Given the description of an element on the screen output the (x, y) to click on. 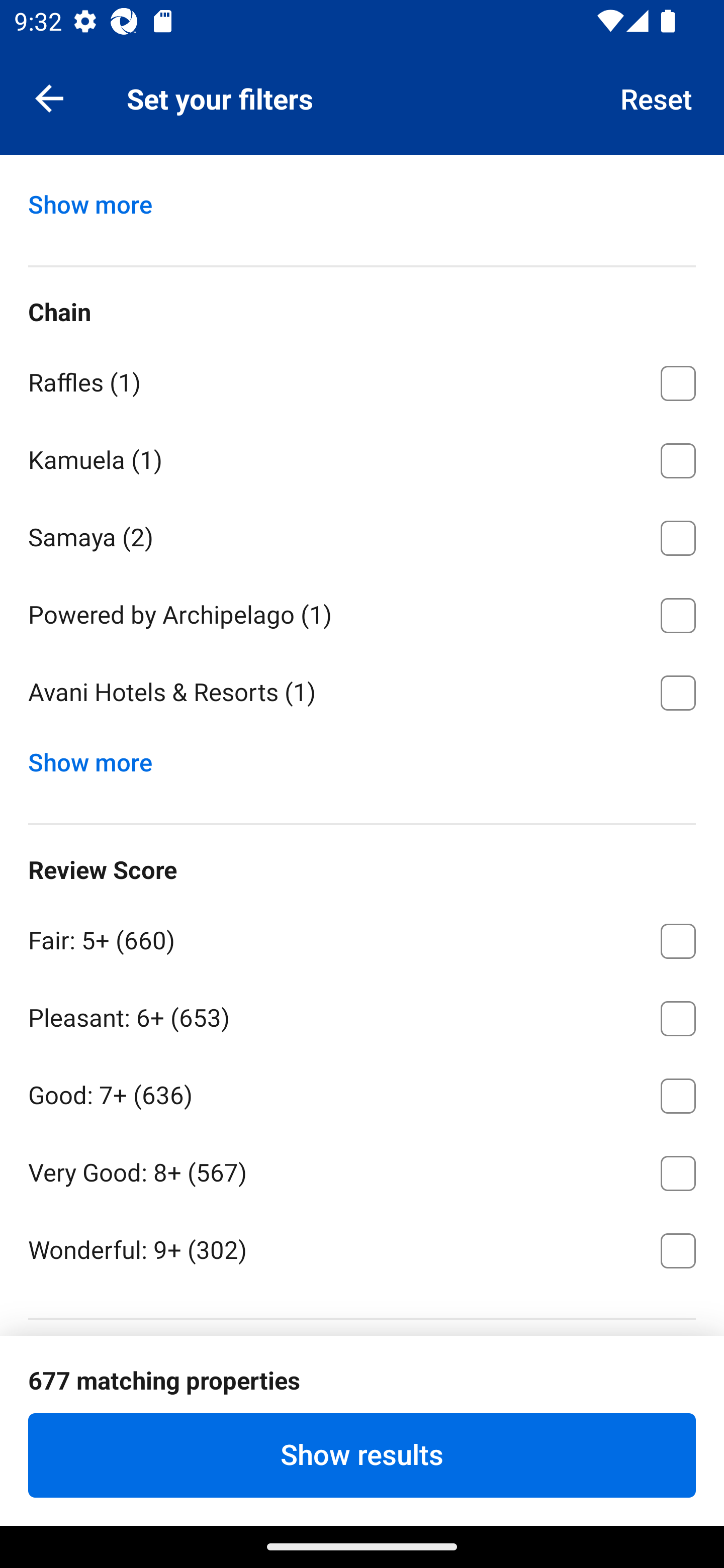
Navigate up (49, 97)
Reset (656, 97)
Show more (97, 199)
Raffles ⁦(1) (361, 379)
Kamuela ⁦(1) (361, 456)
Samaya ⁦(2) (361, 534)
Powered by Archipelago ⁦(1) (361, 611)
Avani Hotels & Resorts ⁦(1) (361, 692)
Show more (97, 757)
Fair: 5+ ⁦(660) (361, 937)
Pleasant: 6+ ⁦(653) (361, 1014)
Good: 7+ ⁦(636) (361, 1091)
Very Good: 8+ ⁦(567) (361, 1169)
Wonderful: 9+ ⁦(302) (361, 1248)
Show results (361, 1454)
